Given the description of an element on the screen output the (x, y) to click on. 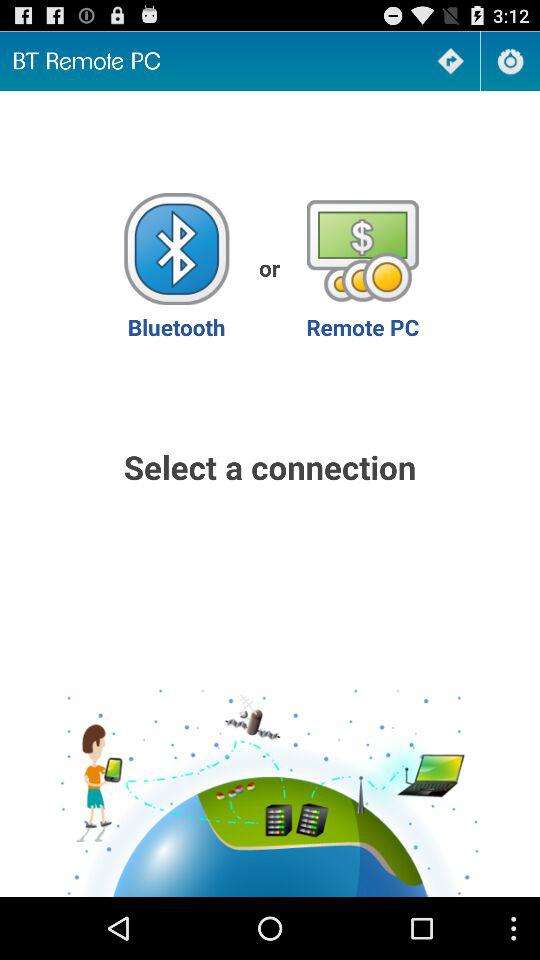
tap the item above select a connection app (176, 267)
